Given the description of an element on the screen output the (x, y) to click on. 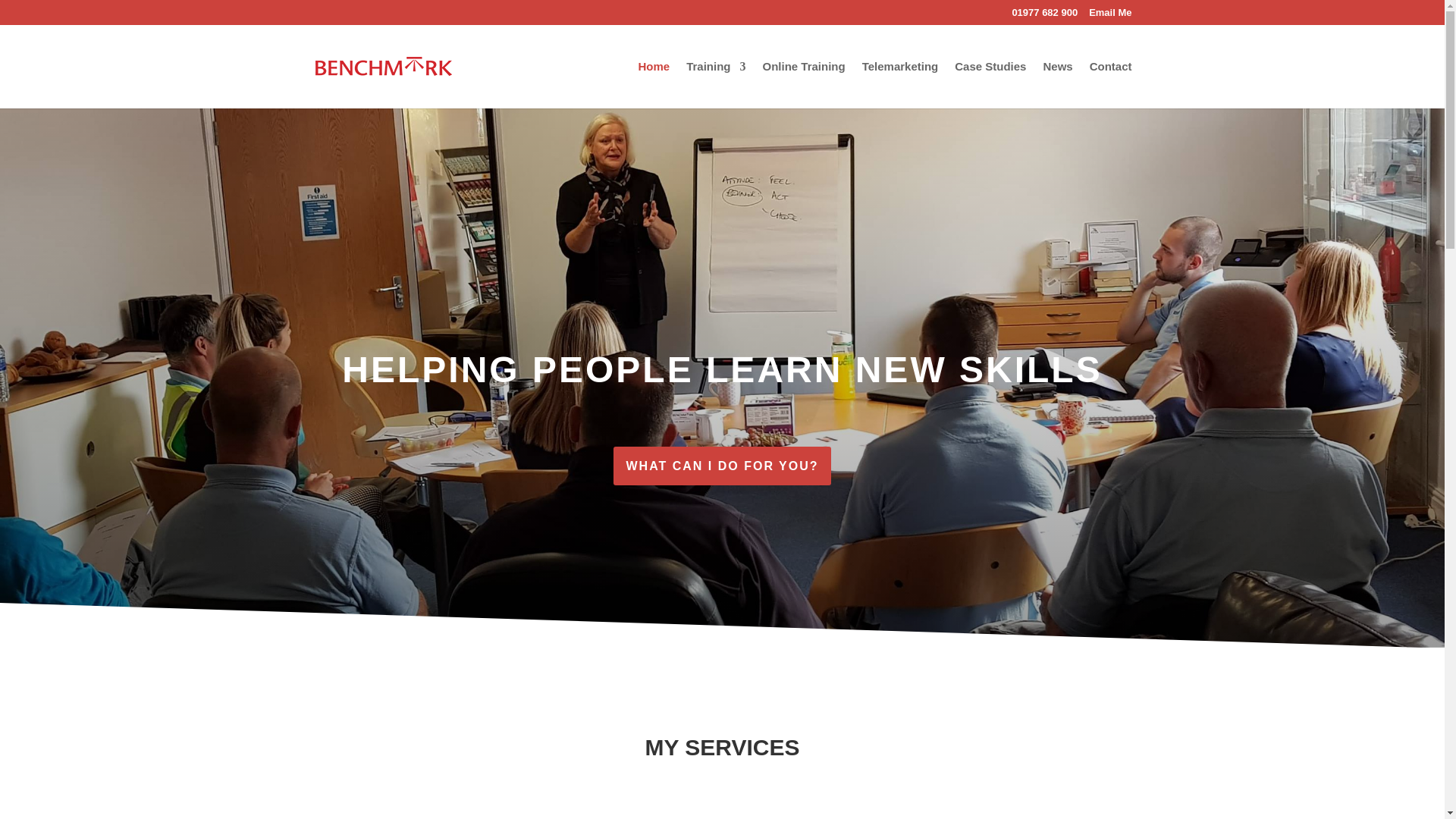
Case Studies (990, 83)
Training (715, 83)
Home (653, 83)
Online Training (802, 83)
WHAT CAN I DO FOR YOU? (720, 465)
Contact (1110, 83)
News (1056, 83)
Email Me (1110, 16)
01977 682 900 (1044, 16)
Telemarketing (900, 83)
